Given the description of an element on the screen output the (x, y) to click on. 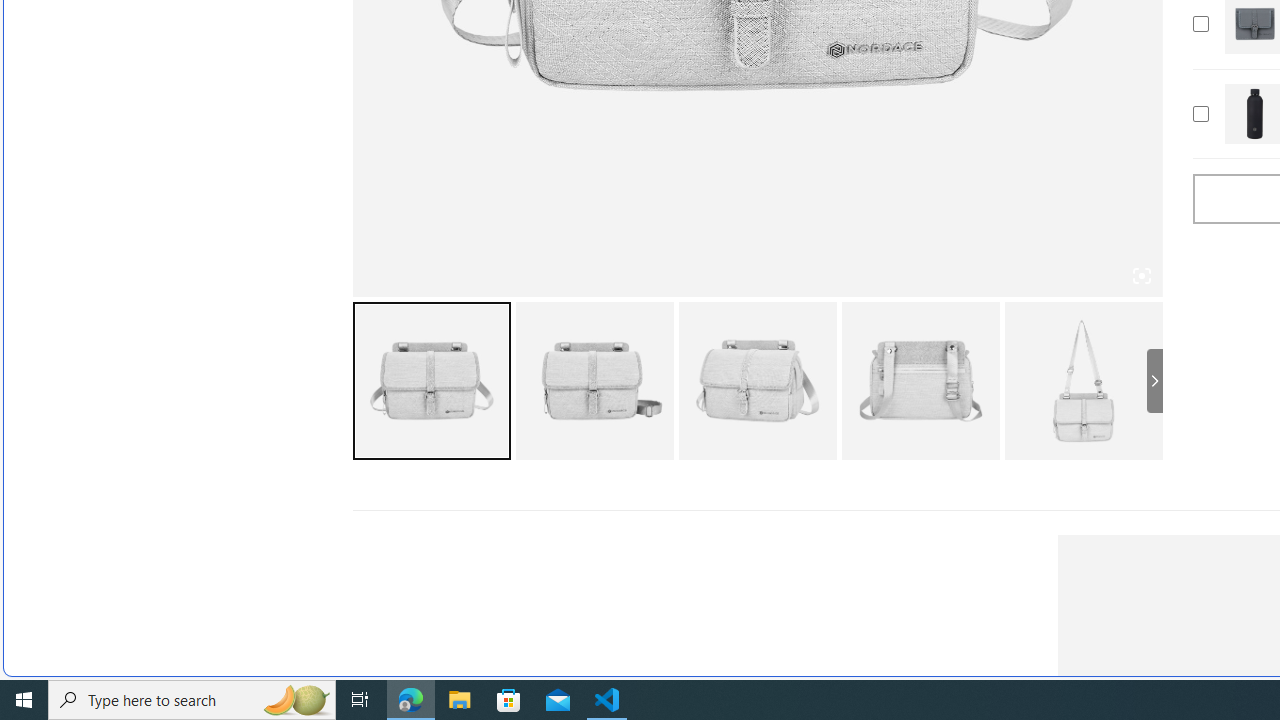
Add this product to cart (1200, 114)
Class: iconic-woothumbs-fullscreen (1140, 276)
